Given the description of an element on the screen output the (x, y) to click on. 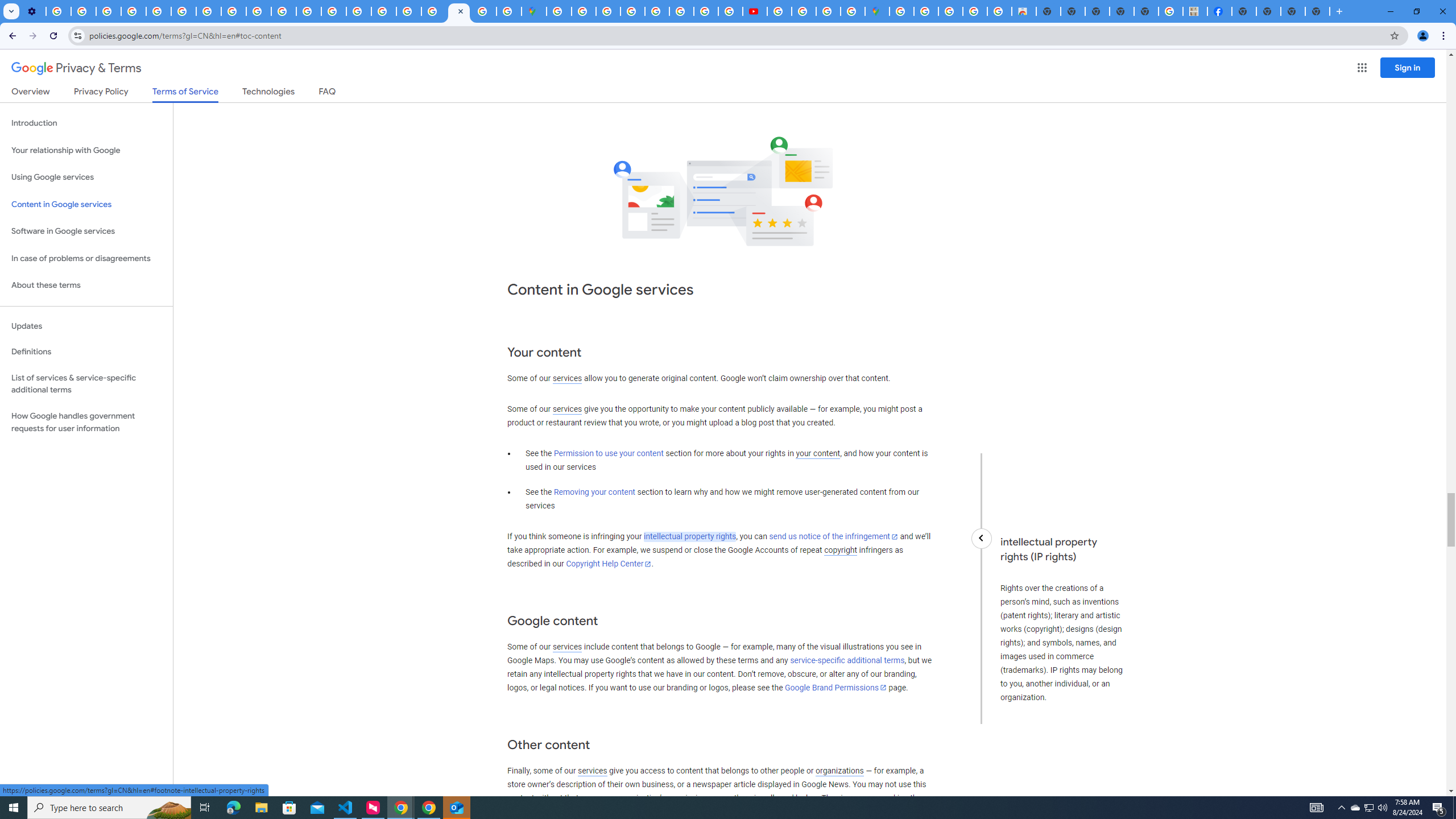
Software in Google services (86, 230)
MILEY CYRUS. (1194, 11)
Privacy Help Center - Policies Help (332, 11)
Copyright Help Center (609, 564)
intellectual property rights (689, 536)
